Given the description of an element on the screen output the (x, y) to click on. 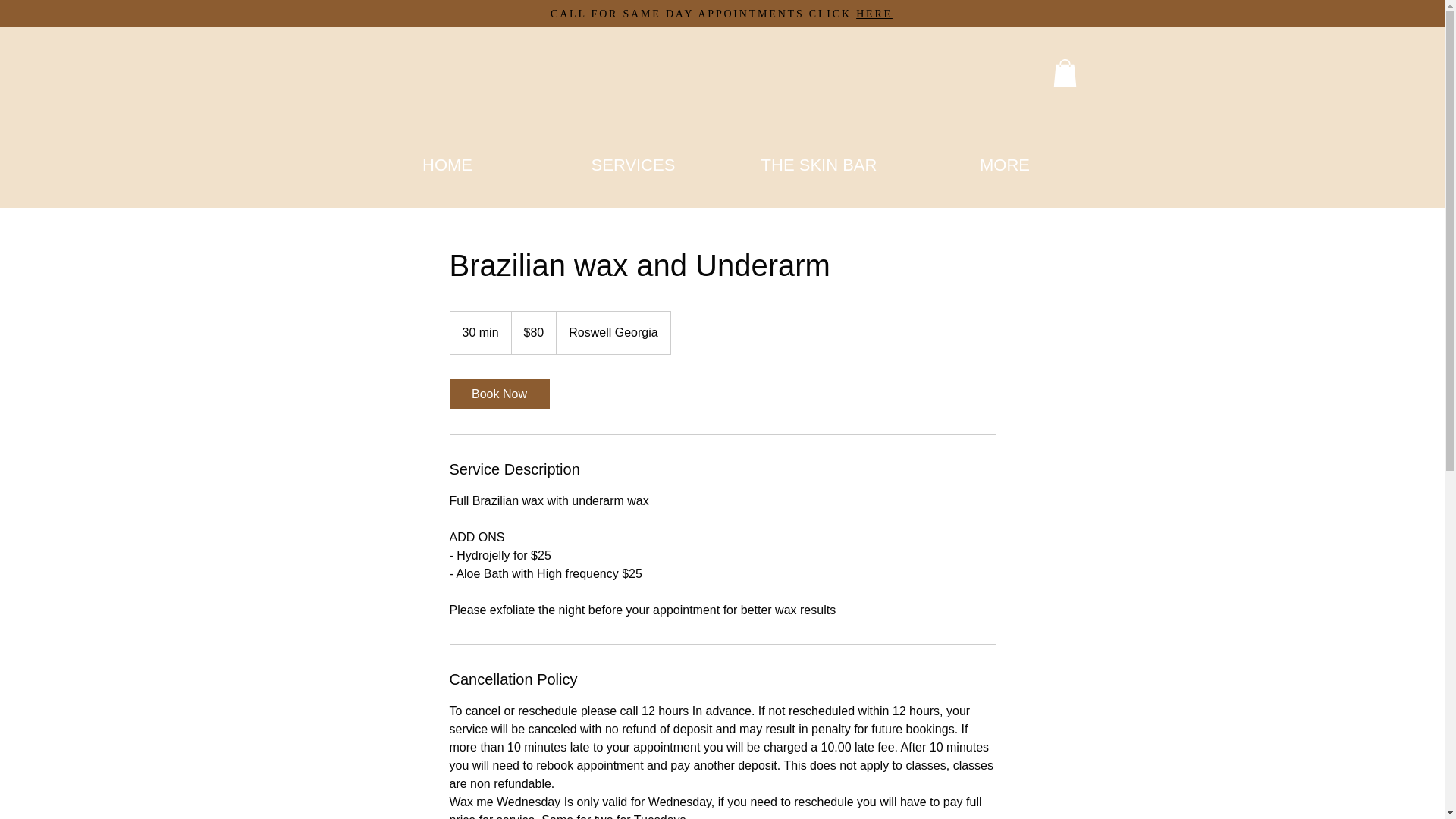
Book Now (498, 394)
SERVICES (632, 164)
THE SKIN BAR (819, 164)
HERE (874, 13)
HOME (447, 164)
